Given the description of an element on the screen output the (x, y) to click on. 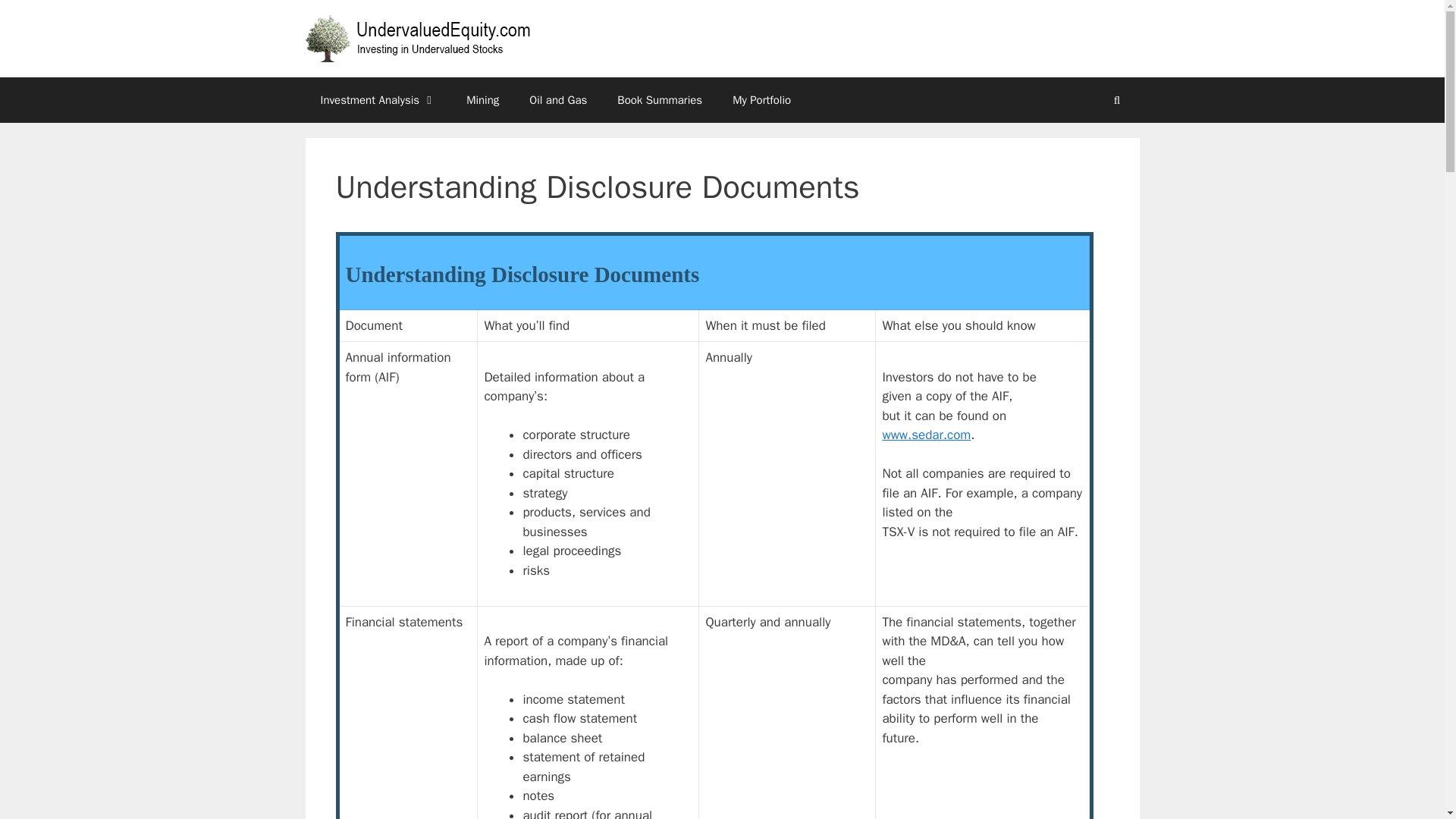
Mining (482, 99)
My Portfolio (761, 99)
Investment Analysis (377, 99)
www.sedar.com (926, 434)
Oil and Gas (557, 99)
Book Summaries (659, 99)
Link: SEDAR.com (926, 434)
